Given the description of an element on the screen output the (x, y) to click on. 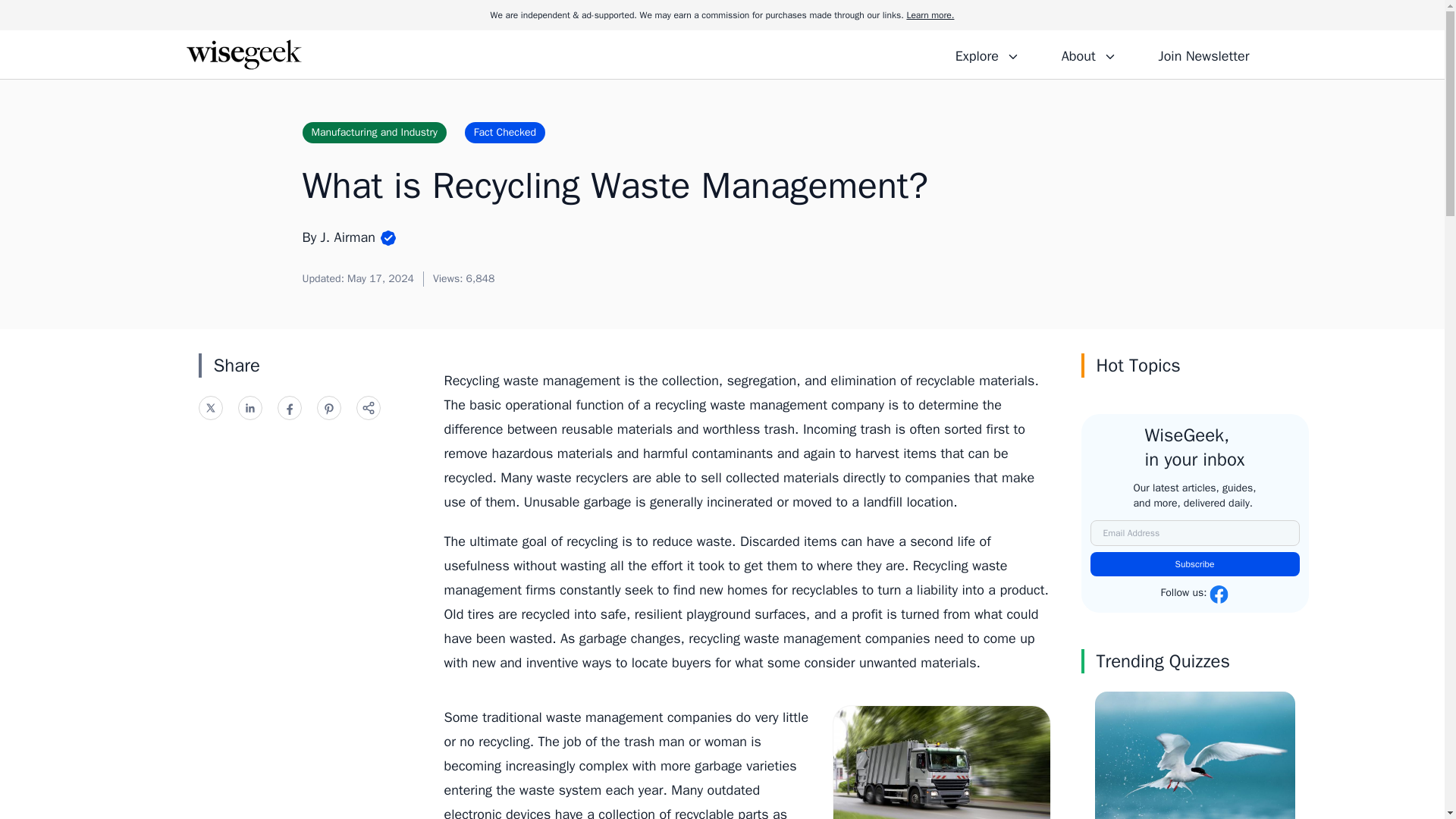
Explore (986, 54)
About (1088, 54)
Subscribe (1195, 564)
Learn more. (929, 15)
Fact Checked (504, 132)
Follow us: (1194, 594)
Manufacturing and Industry (373, 132)
Join Newsletter (1202, 54)
